Given the description of an element on the screen output the (x, y) to click on. 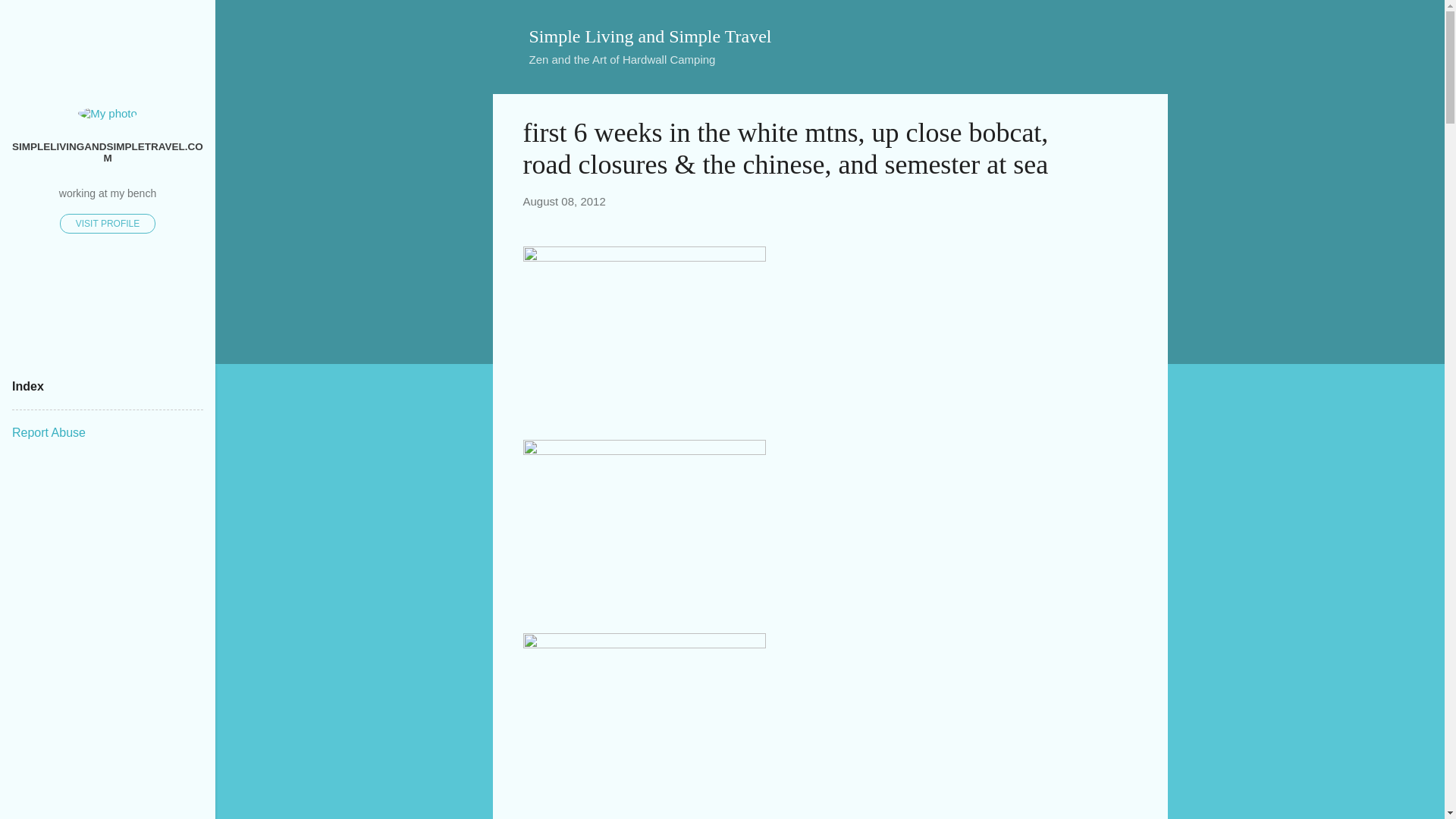
August 08, 2012 (563, 201)
Search (29, 18)
Simple Living and Simple Travel (650, 35)
permanent link (563, 201)
